Given the description of an element on the screen output the (x, y) to click on. 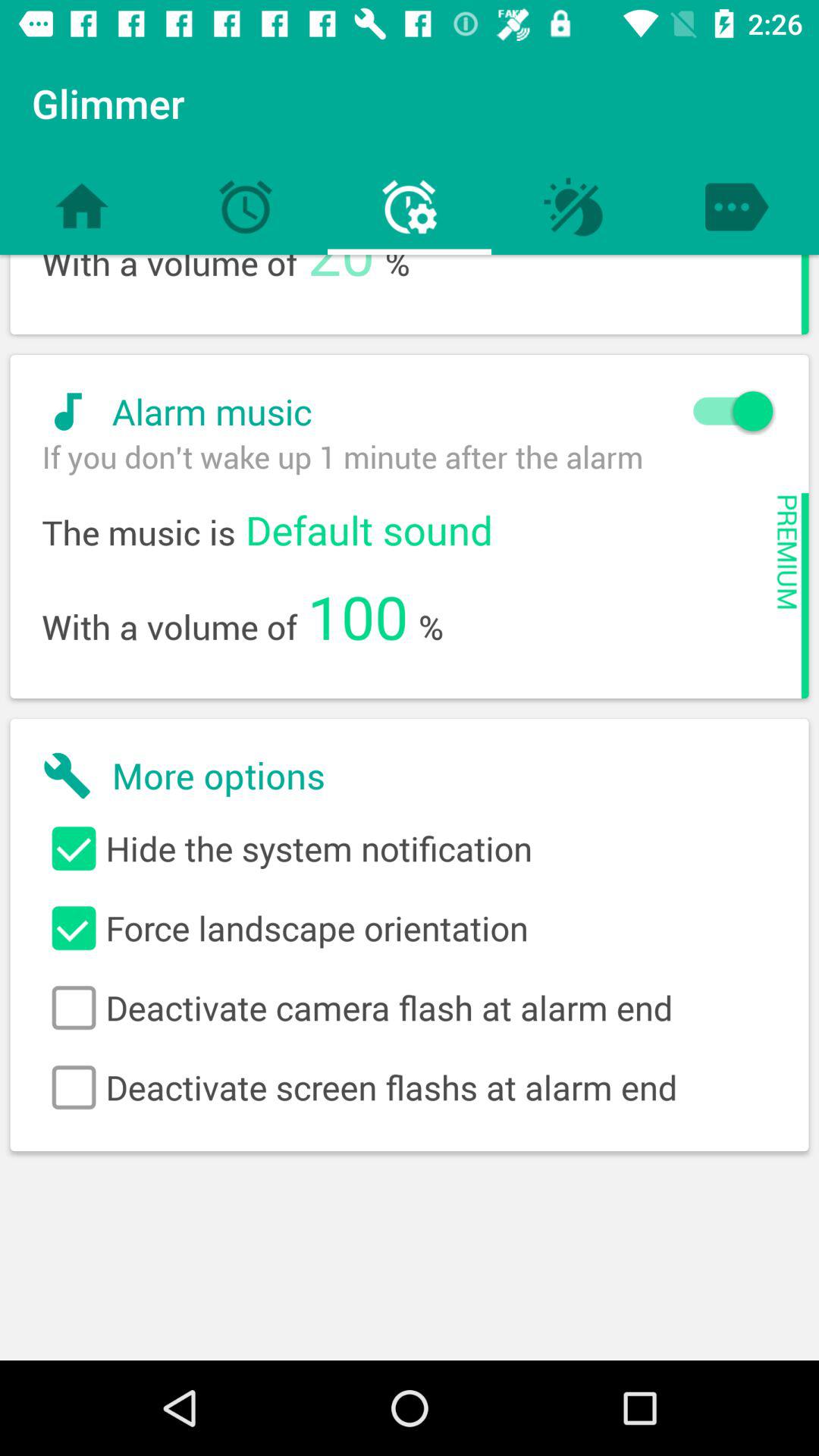
swipe until deactivate screen flashs (409, 1087)
